Given the description of an element on the screen output the (x, y) to click on. 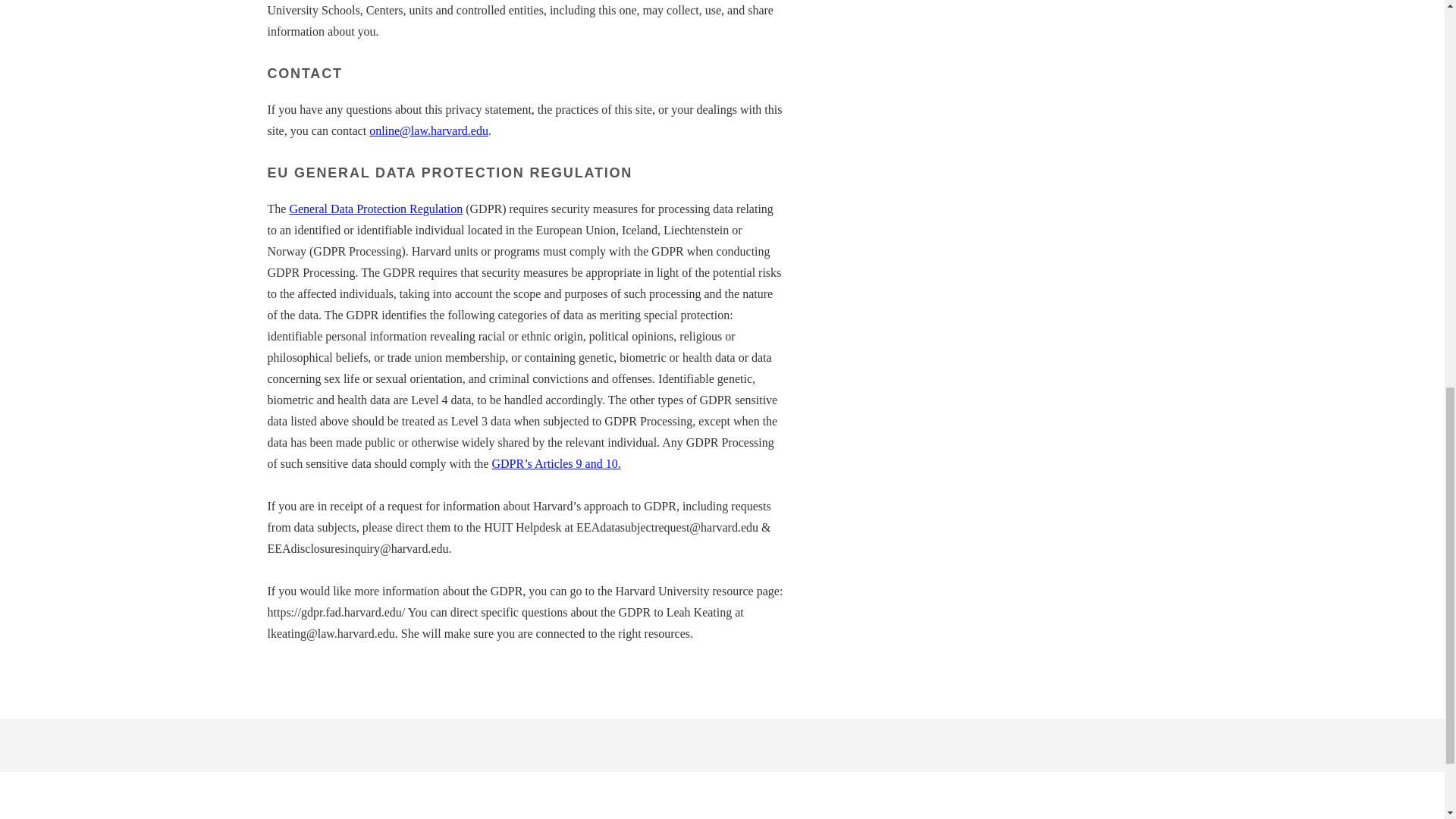
General Data Protection Regulation (375, 208)
